Given the description of an element on the screen output the (x, y) to click on. 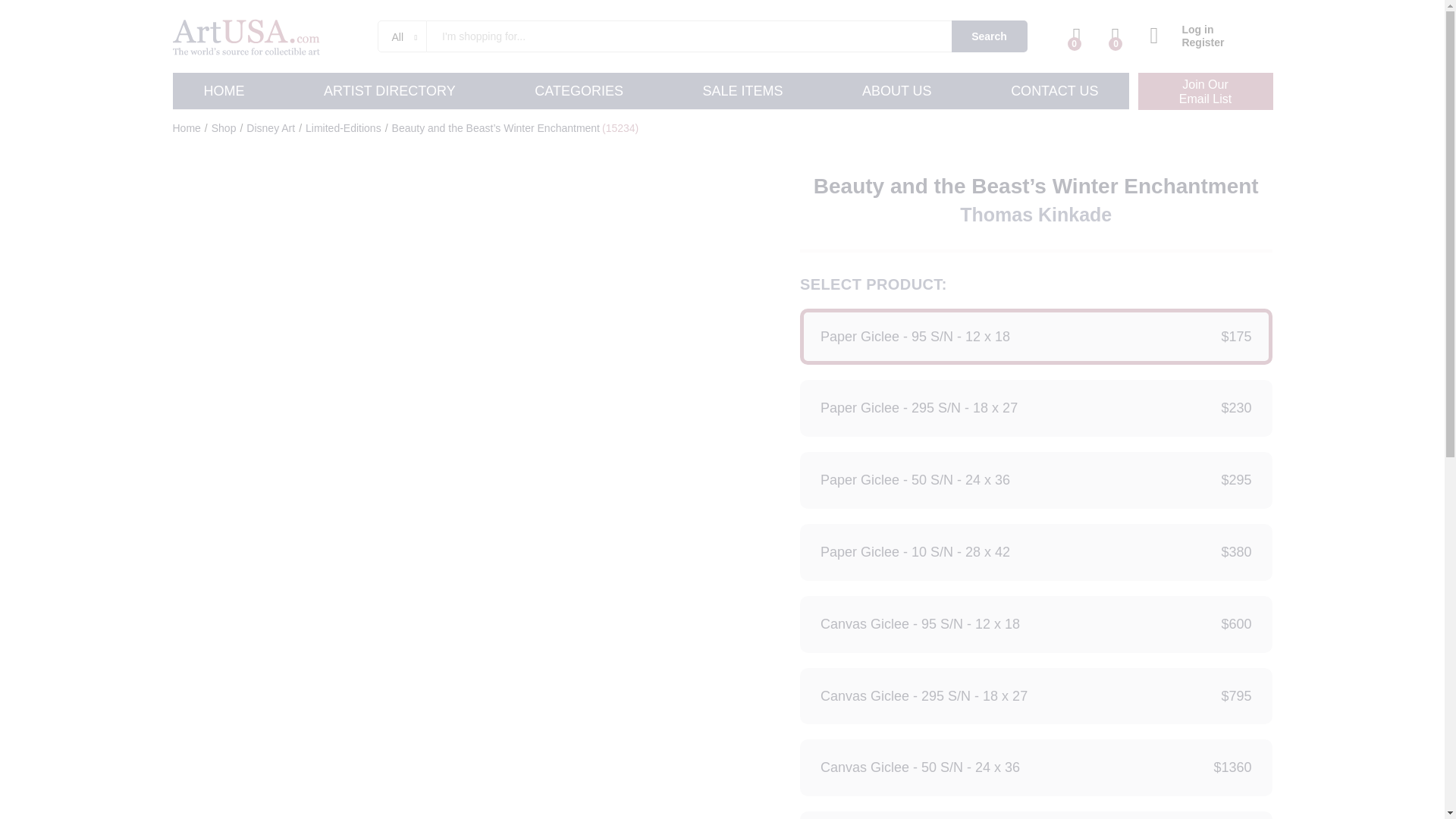
Shop (223, 128)
ARTIST DIRECTORY (389, 90)
Search (989, 36)
Log in (1187, 29)
CONTACT US (1053, 90)
SALE ITEMS (742, 90)
Register (1187, 42)
Home (186, 128)
Limited-Editions (343, 128)
Disney Art (270, 128)
Thomas Kinkade (1035, 214)
ABOUT US (896, 90)
CATEGORIES (1204, 90)
HOME (578, 90)
